Given the description of an element on the screen output the (x, y) to click on. 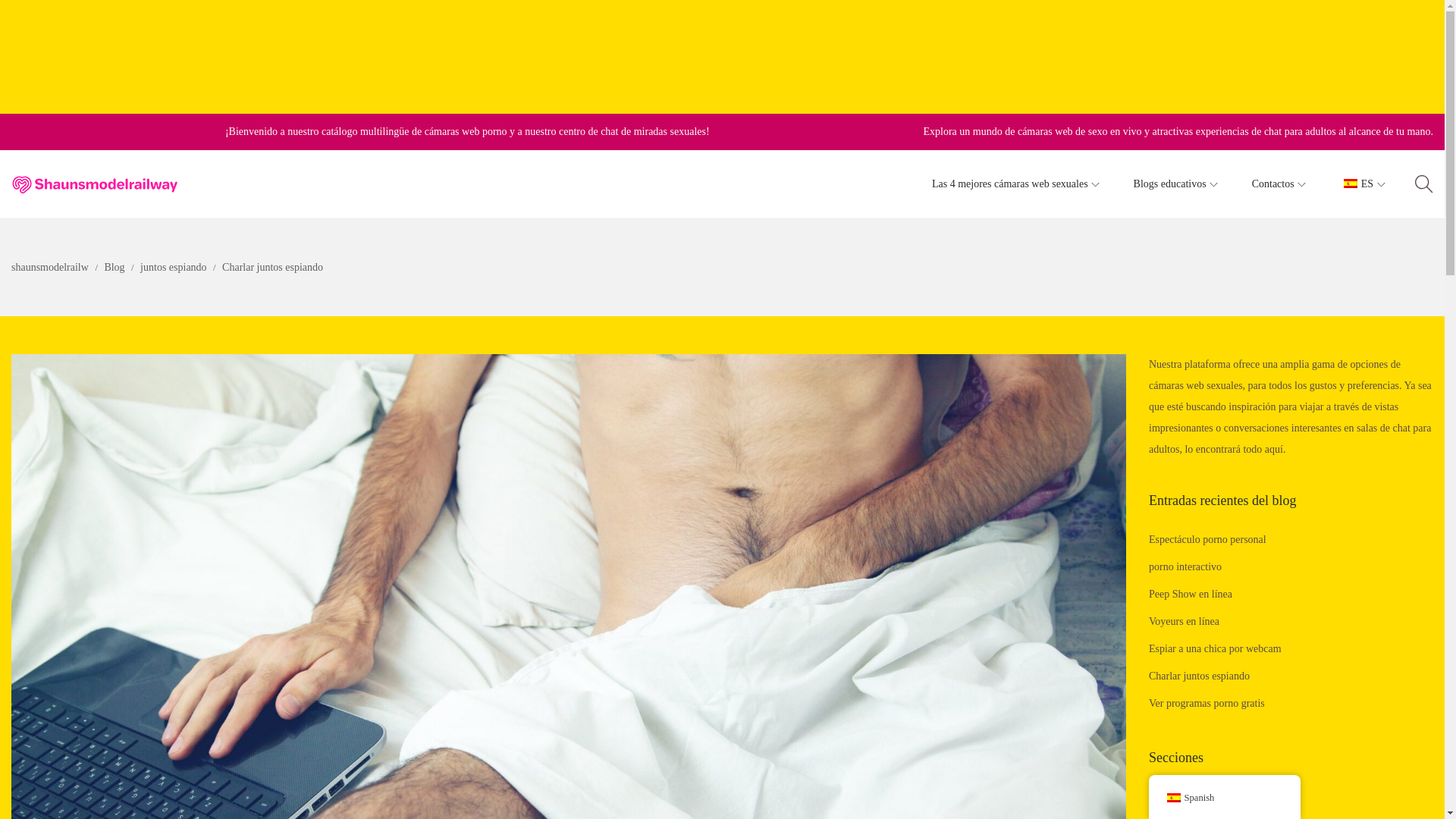
Blogs educativos (1177, 183)
Blog (115, 266)
Spanish (1349, 183)
juntos espiando (174, 266)
Espiar a una chica por webcam (1214, 648)
porno interactivo (1184, 566)
shaunsmodelrailw (50, 266)
